Given the description of an element on the screen output the (x, y) to click on. 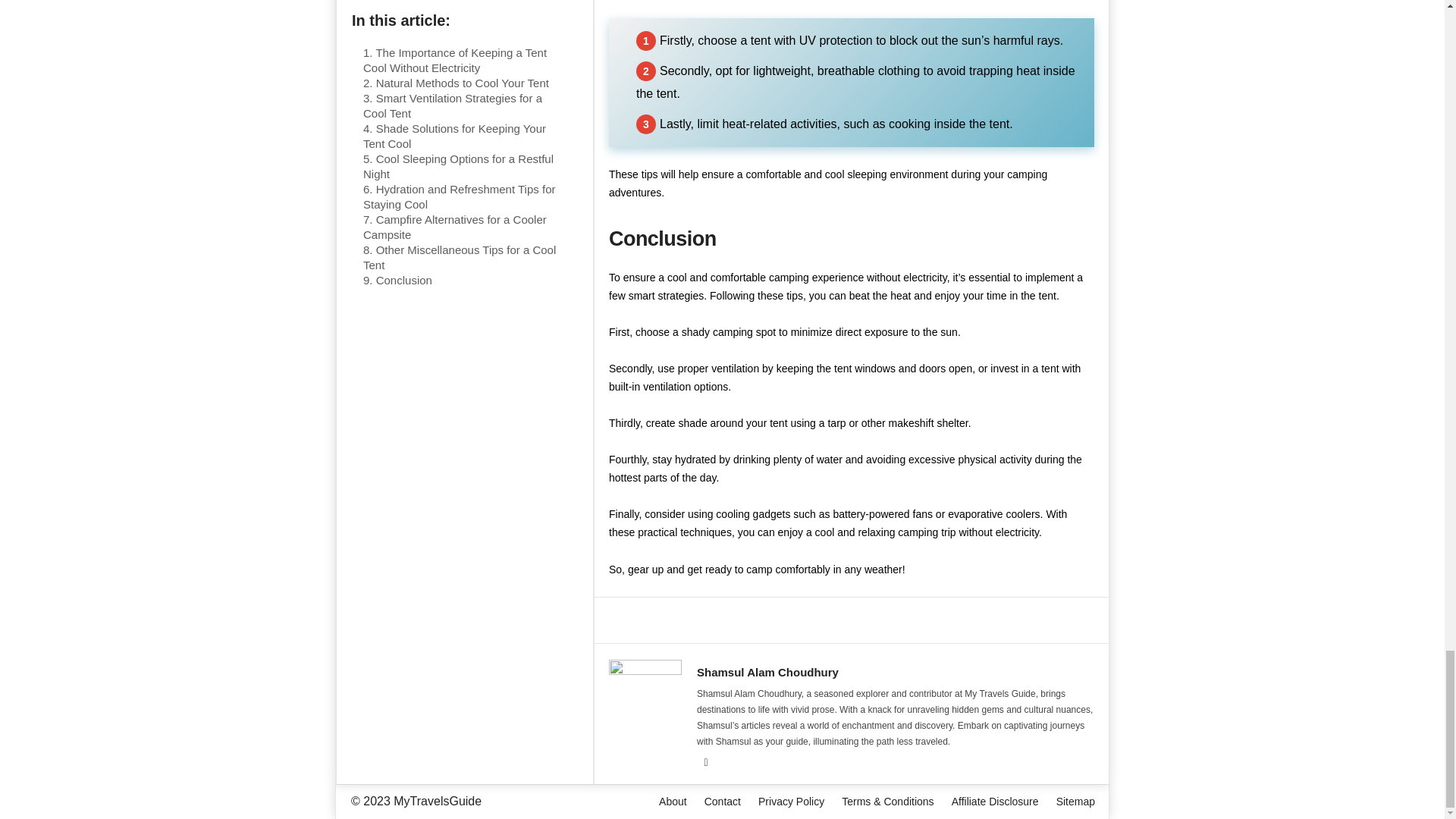
Facebook (705, 762)
